Given the description of an element on the screen output the (x, y) to click on. 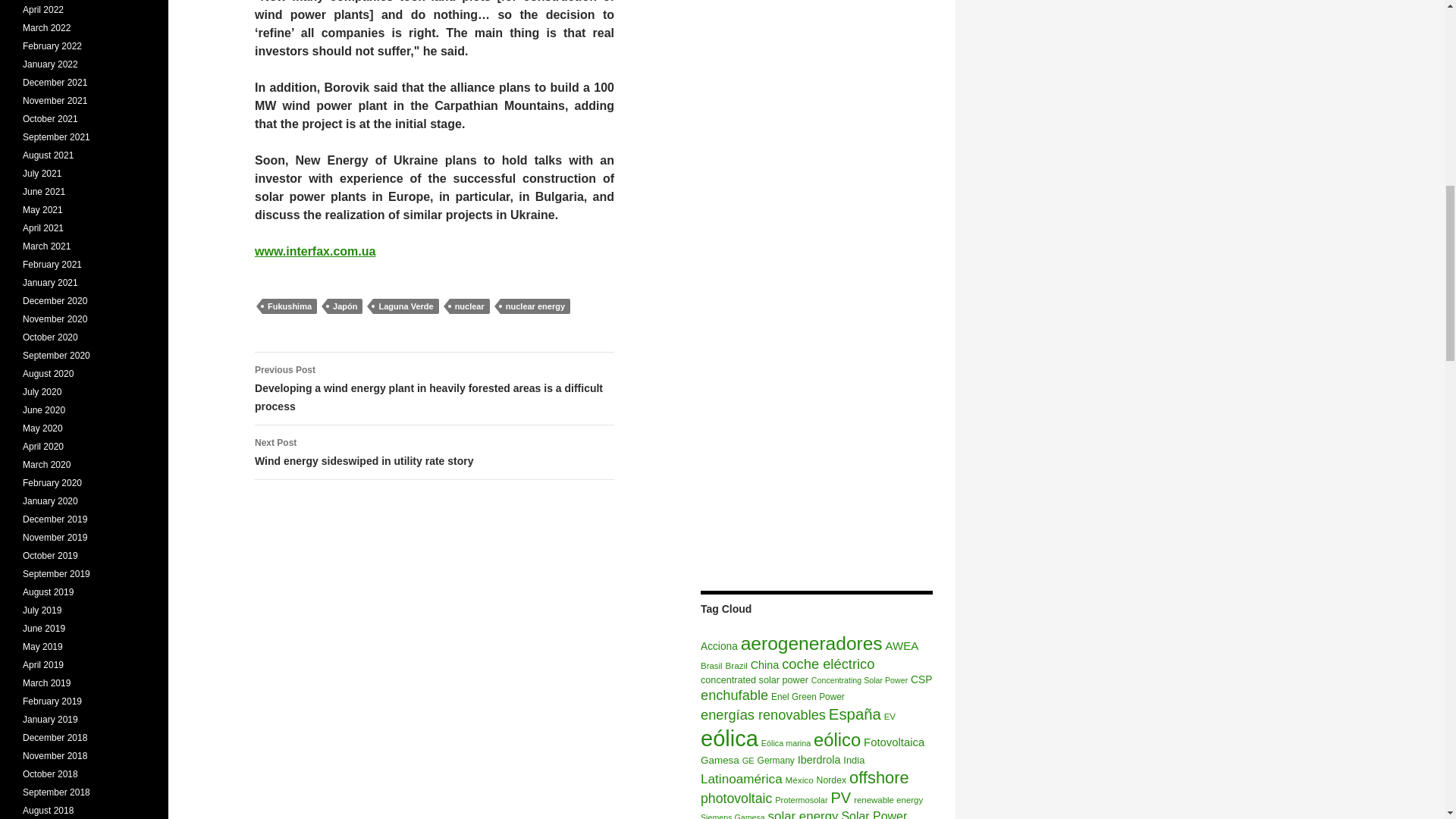
Acciona (719, 645)
nuclear energy (535, 305)
Brasil (711, 665)
Fukushima (289, 305)
nuclear (469, 305)
Brazil (434, 452)
AWEA (736, 665)
www.interfax.com.ua (901, 645)
Laguna Verde (314, 250)
aerogeneradores (405, 305)
